Given the description of an element on the screen output the (x, y) to click on. 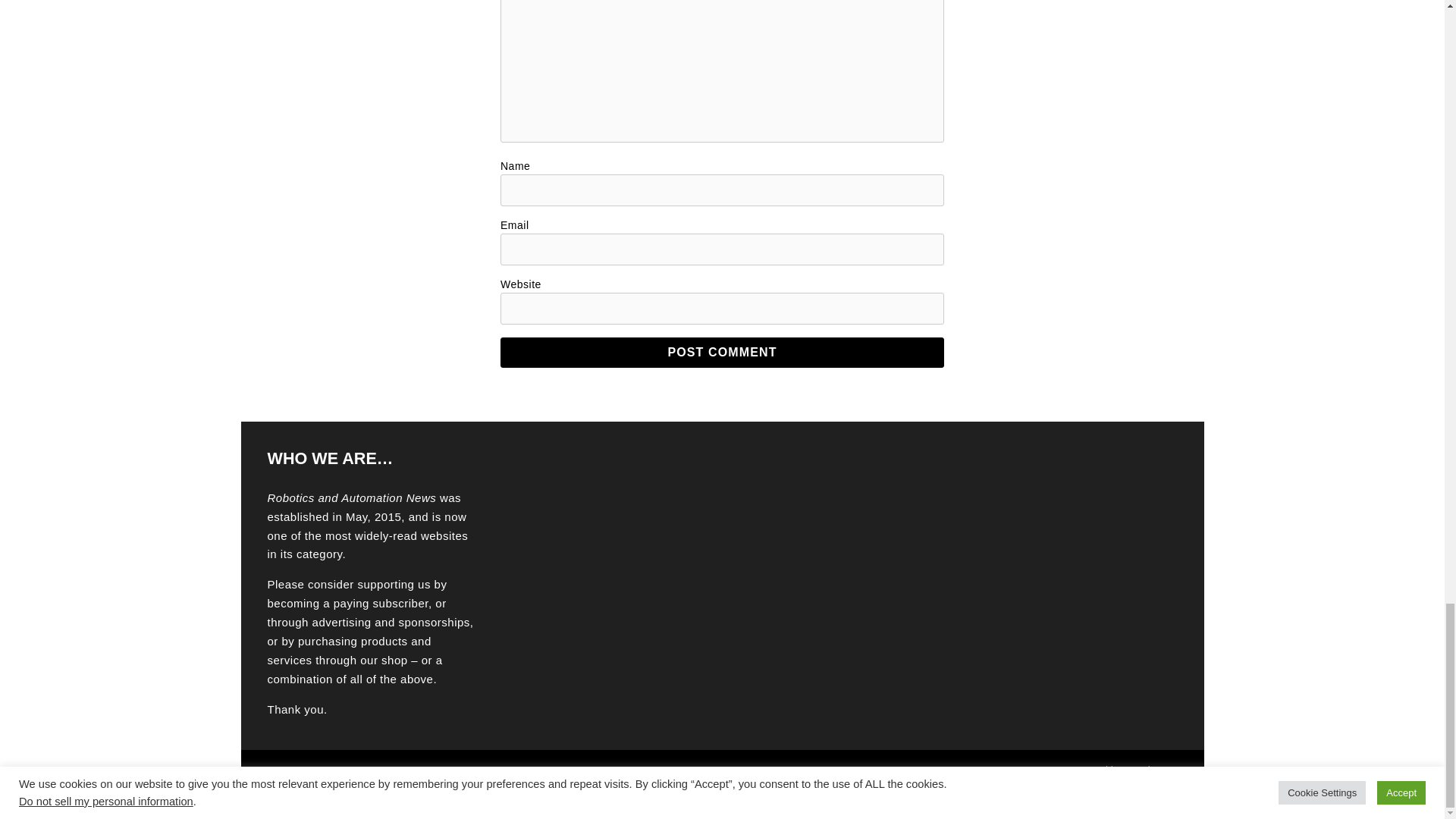
Post Comment (721, 352)
